Given the description of an element on the screen output the (x, y) to click on. 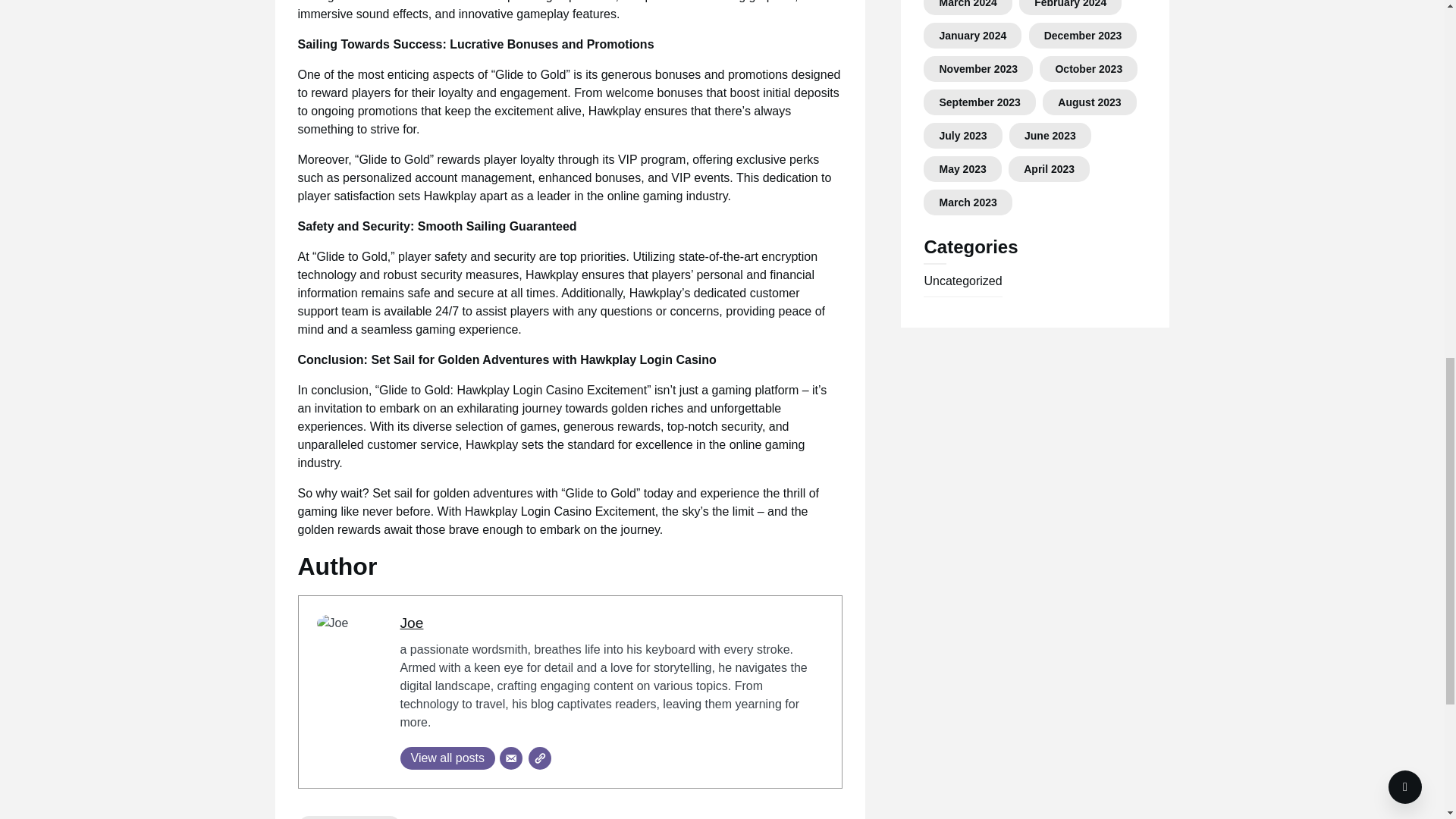
Joe (411, 622)
October 2023 (1088, 69)
November 2023 (978, 69)
March 2024 (967, 4)
December 2023 (1082, 35)
September 2023 (979, 102)
Uncategorized (348, 817)
View all posts (448, 757)
February 2024 (1069, 4)
January 2024 (972, 35)
